Given the description of an element on the screen output the (x, y) to click on. 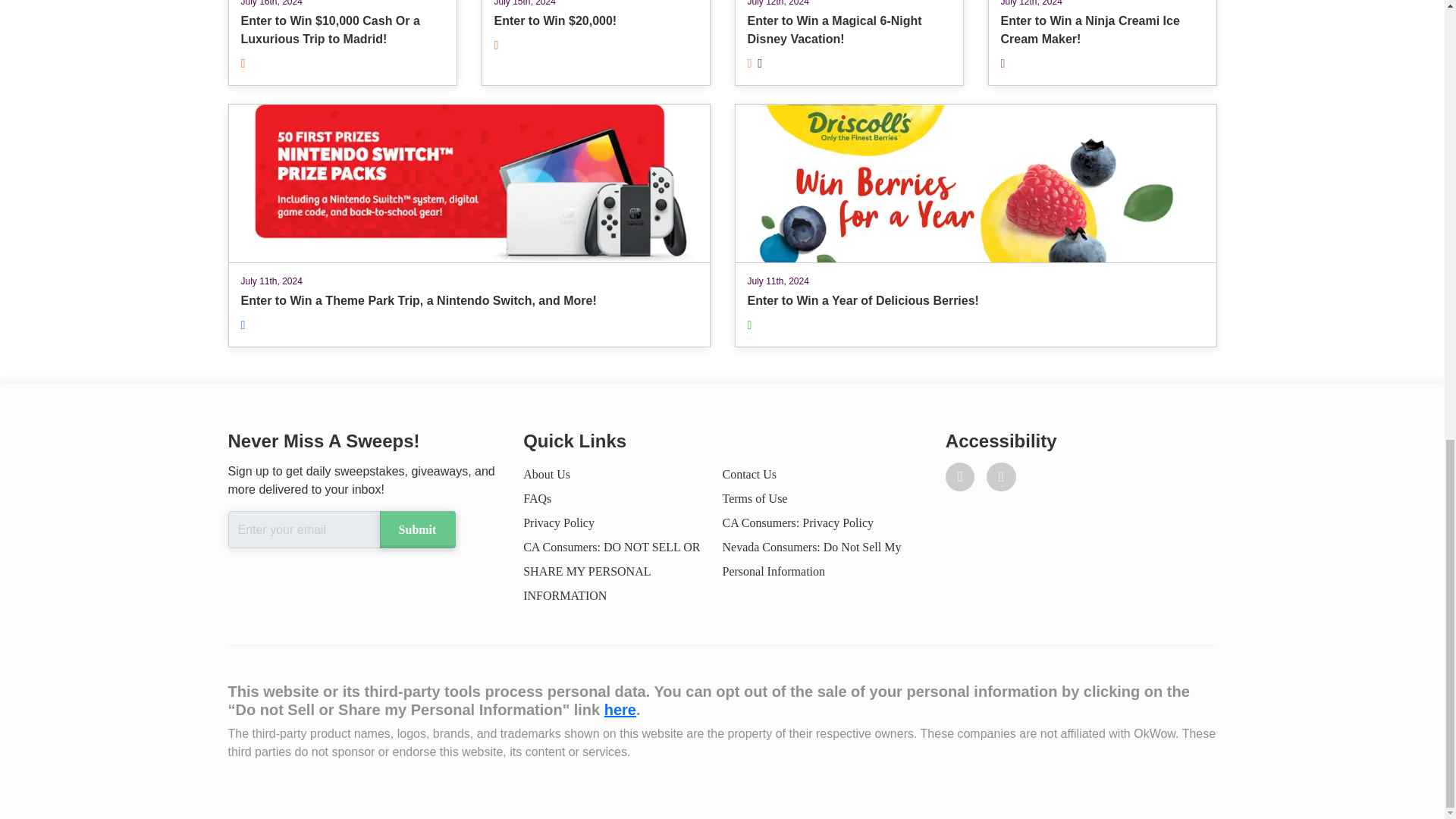
About Us (546, 473)
Privacy Policy (974, 225)
Terms of Use (558, 522)
FAQs (754, 498)
Contact Us (1101, 42)
CA Consumers: DO NOT SELL OR SHARE MY PERSONAL INFORMATION (536, 498)
CA Consumers: Privacy Policy (749, 473)
Submit (611, 570)
